Given the description of an element on the screen output the (x, y) to click on. 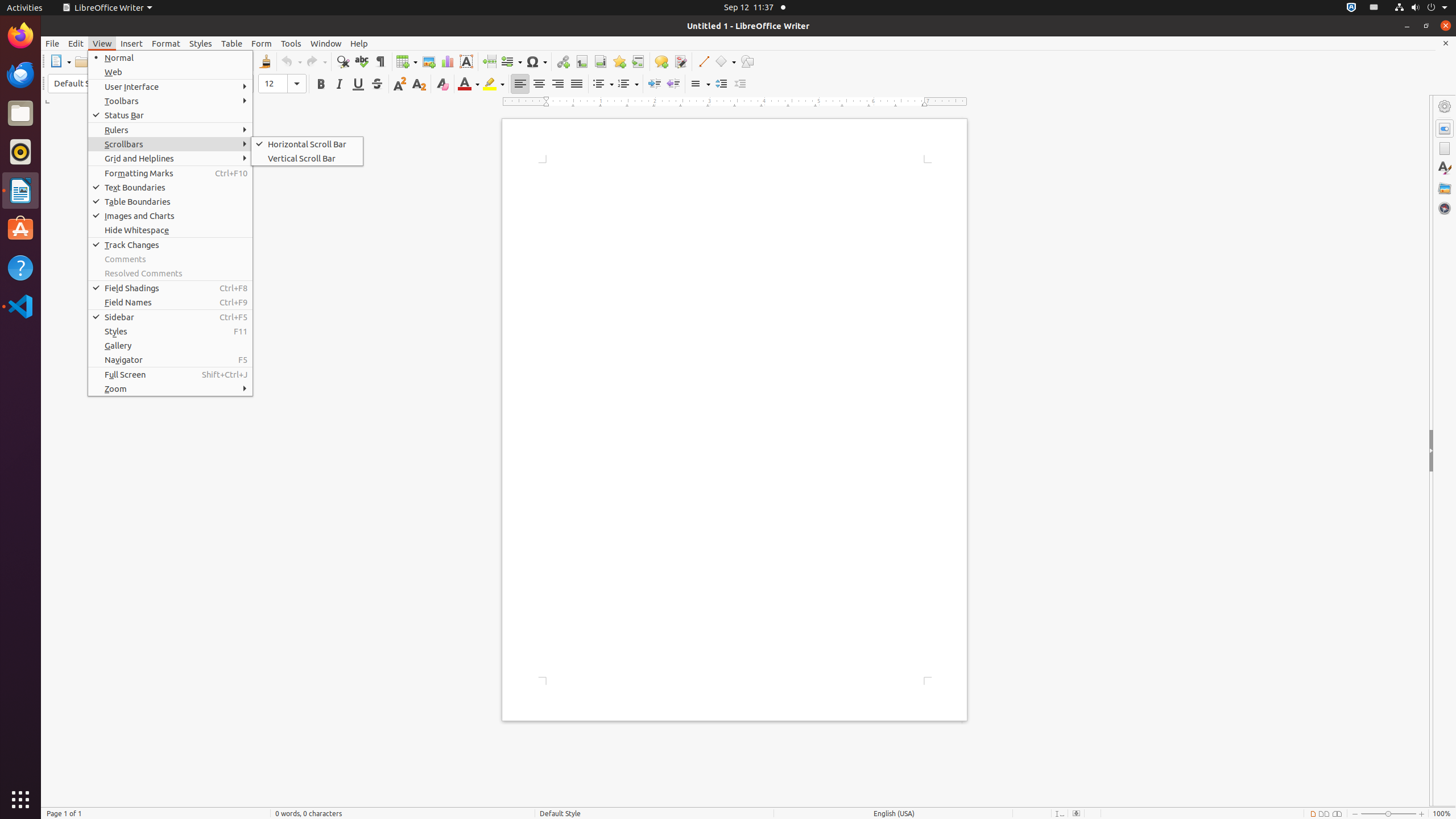
Tools Element type: menu (290, 43)
Increase Element type: push-button (721, 83)
Find & Replace Element type: toggle-button (342, 61)
Line Spacing Element type: push-button (699, 83)
Font Color Element type: push-button (468, 83)
